Given the description of an element on the screen output the (x, y) to click on. 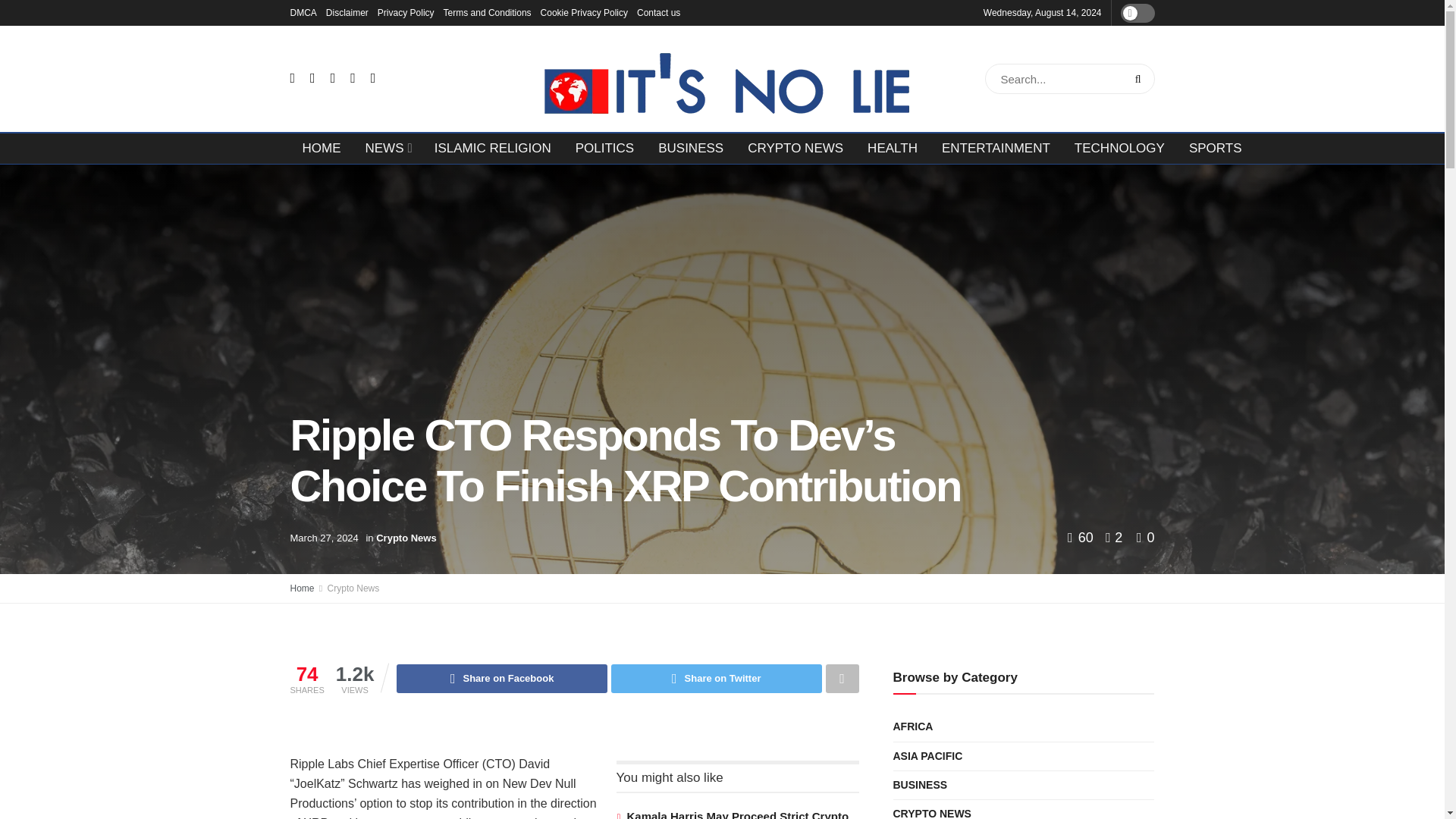
CRYPTO NEWS (795, 148)
SPORTS (1214, 148)
ENTERTAINMENT (996, 148)
Disclaimer (347, 12)
Contact us (658, 12)
TECHNOLOGY (1119, 148)
NEWS (387, 148)
DMCA (302, 12)
Cookie Privacy Policy (583, 12)
Terms and Conditions (487, 12)
